Given the description of an element on the screen output the (x, y) to click on. 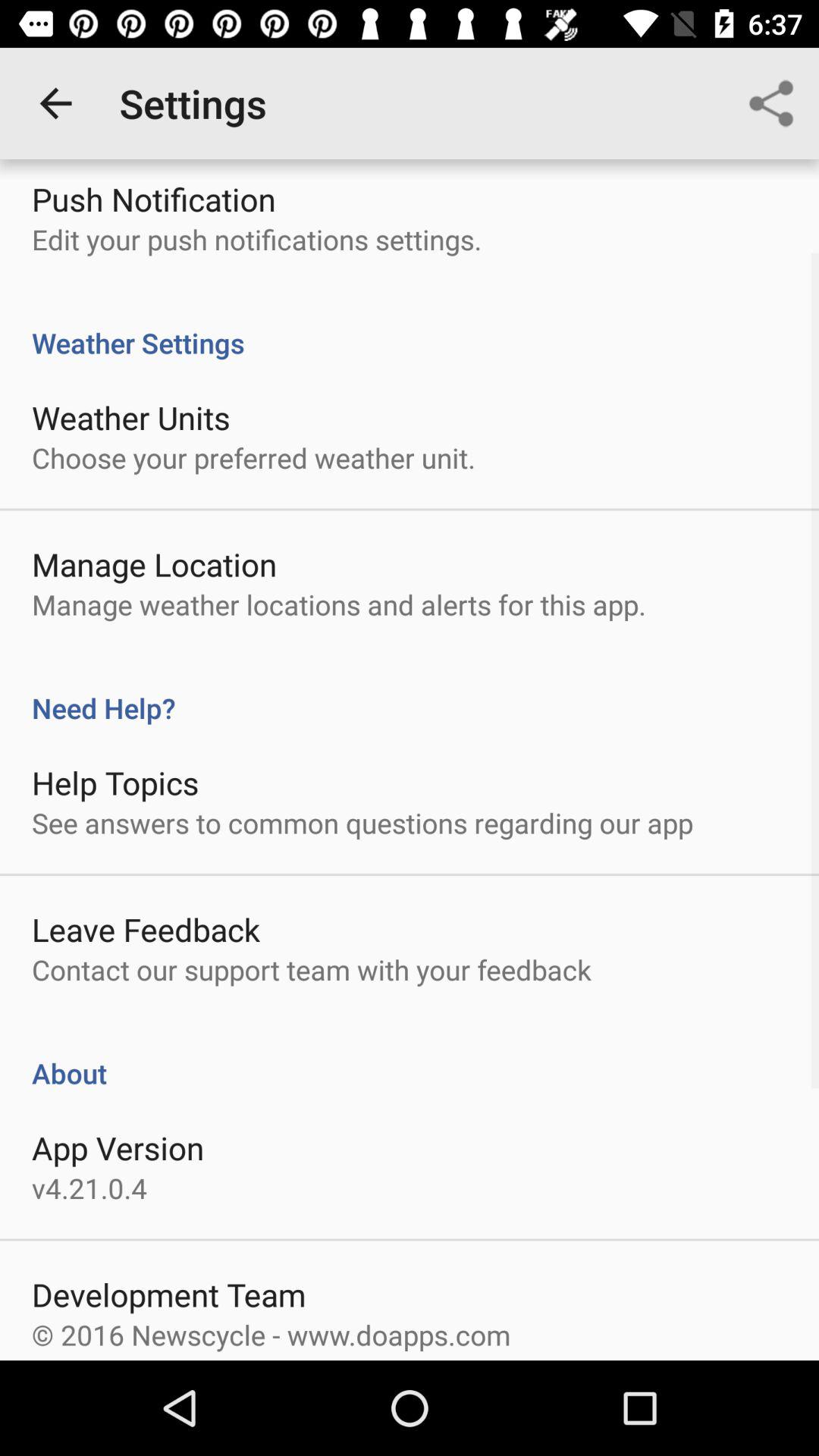
turn off the choose your preferred (253, 457)
